Given the description of an element on the screen output the (x, y) to click on. 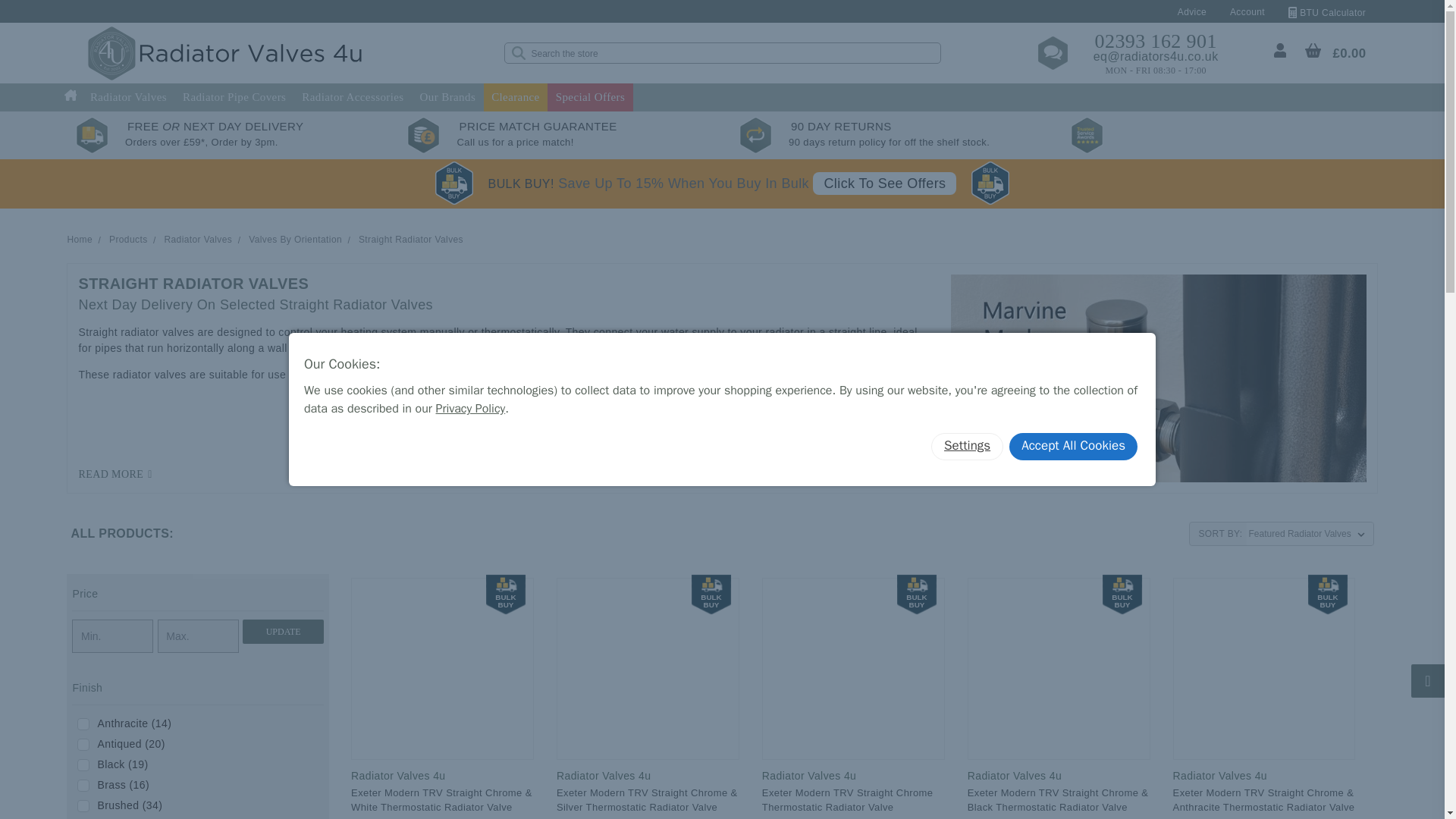
Radiator Valves (127, 97)
MON - FRI 08:30 - 17:00 (1155, 69)
BTU Calculator (1326, 12)
RadiatorValves4u.co.uk (225, 52)
02393 162 901 (1155, 38)
